Given the description of an element on the screen output the (x, y) to click on. 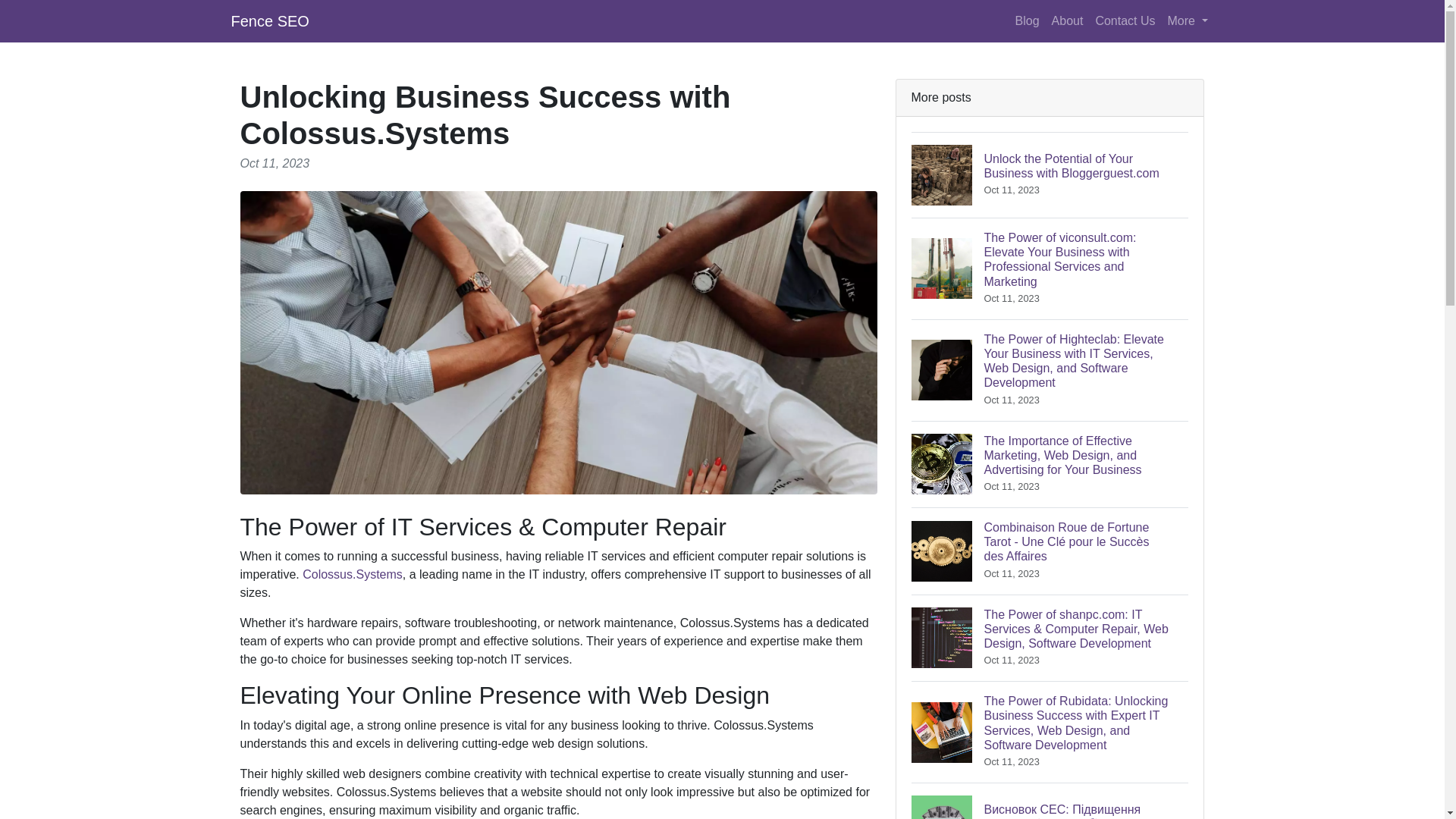
Colossus.Systems (352, 574)
Blog (1027, 20)
Contact Us (1124, 20)
About (1067, 20)
More (1187, 20)
